Given the description of an element on the screen output the (x, y) to click on. 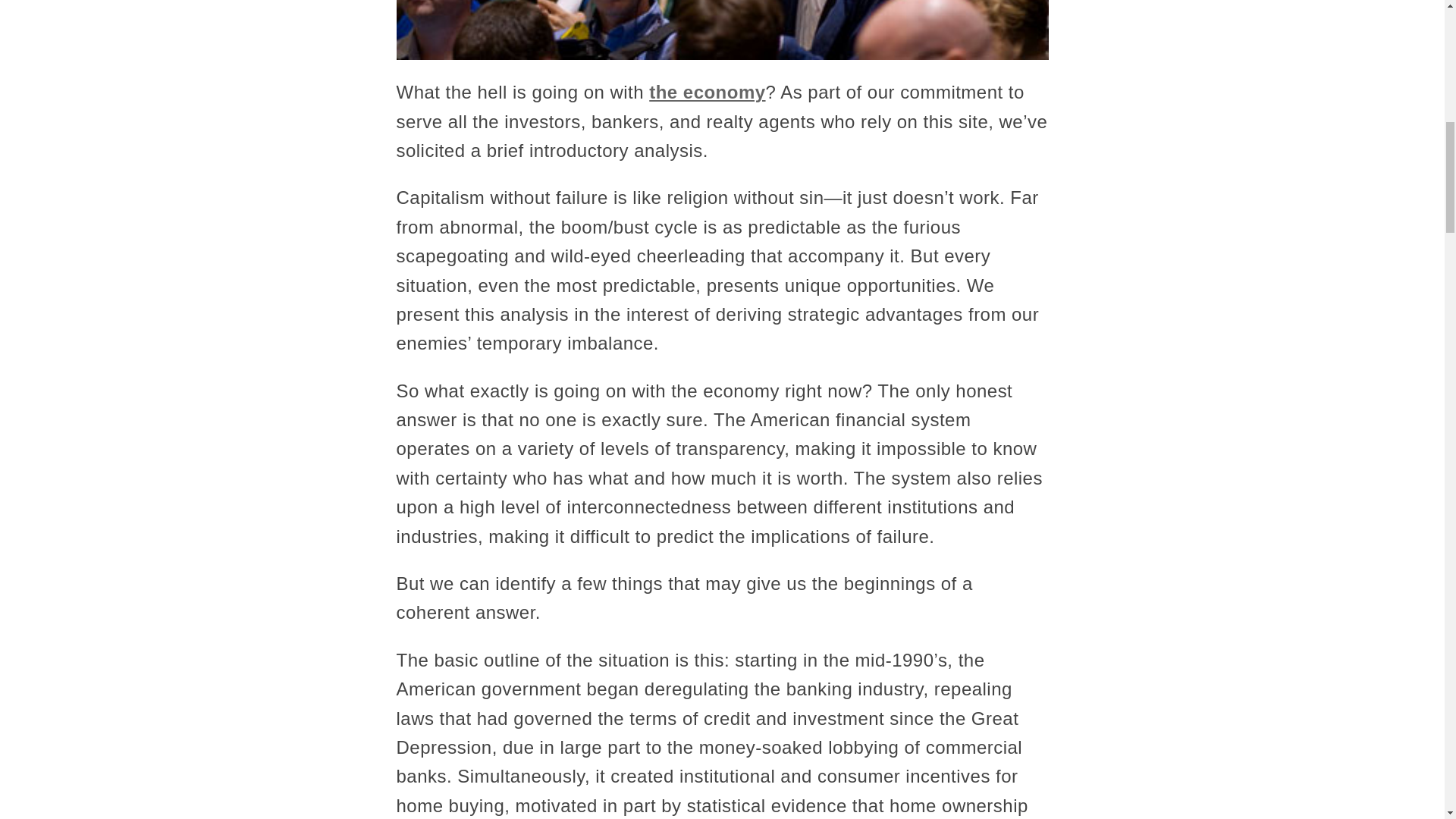
the economy (707, 91)
